Given the description of an element on the screen output the (x, y) to click on. 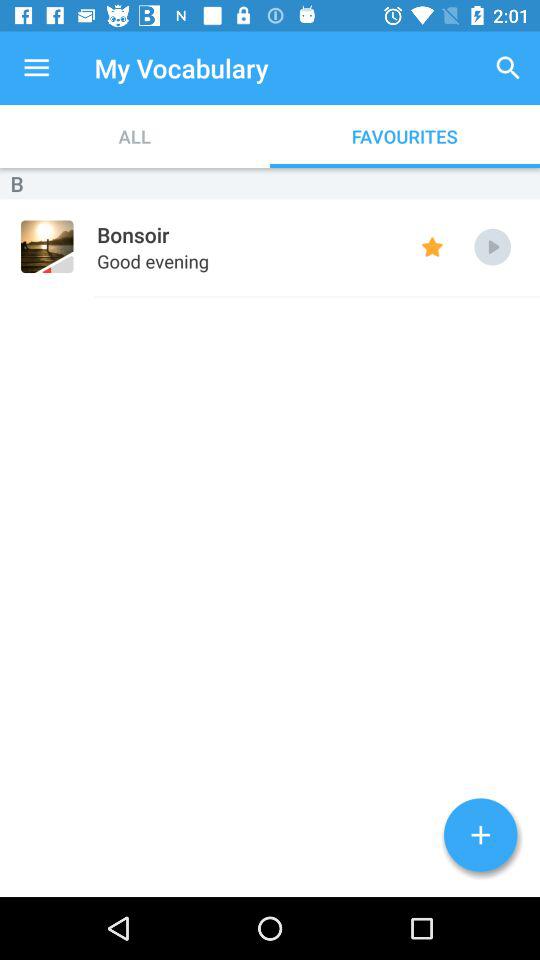
click on add icon (480, 835)
